Given the description of an element on the screen output the (x, y) to click on. 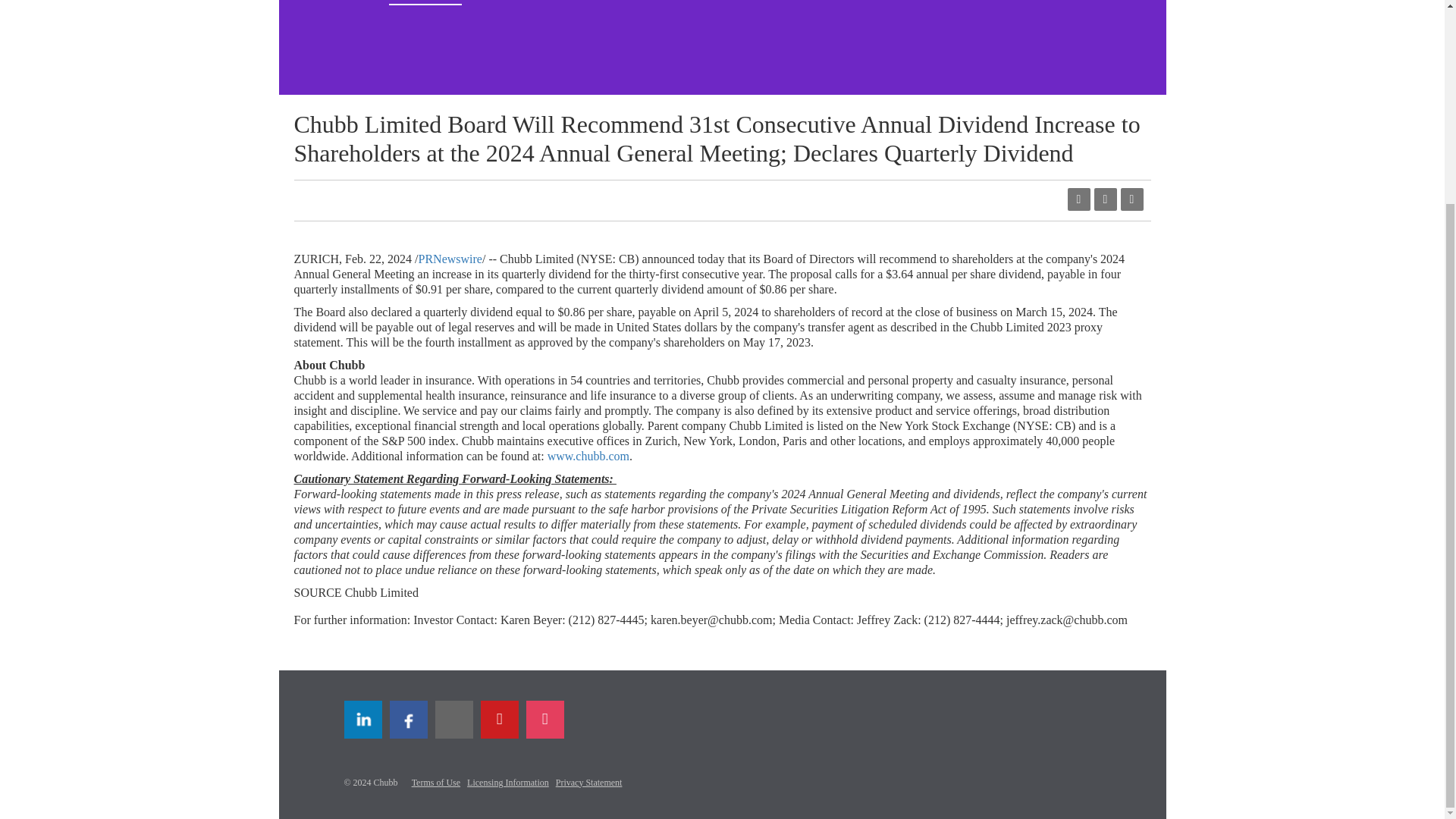
Privacy Statement (589, 782)
www.chubb.com (587, 455)
Email Alerts (580, 2)
Twitter (454, 719)
print (1131, 199)
Home (358, 2)
Facebook (409, 719)
Media Contacts (665, 2)
In the News (506, 2)
LinkedIn (362, 719)
